Given the description of an element on the screen output the (x, y) to click on. 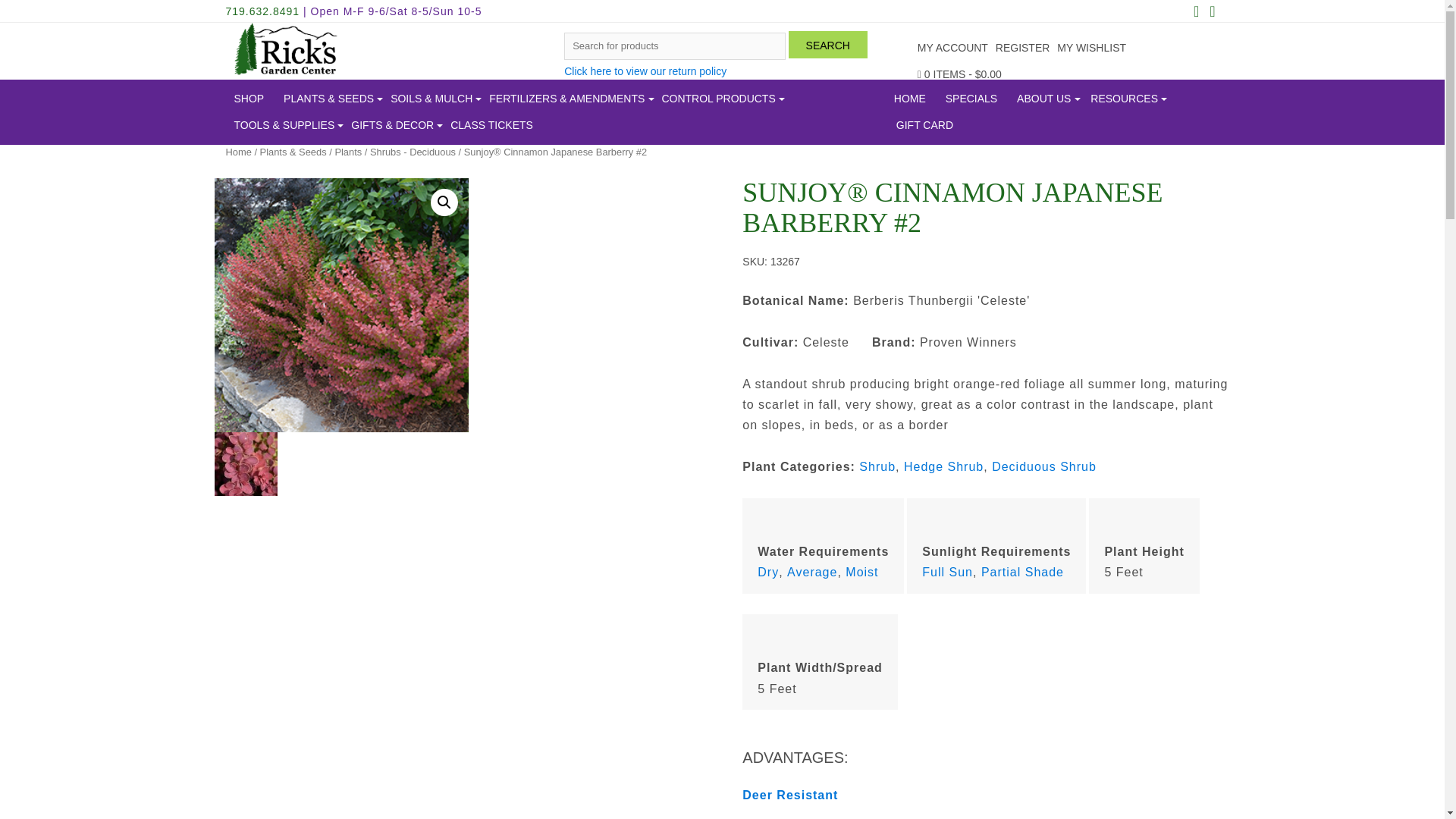
Search (828, 44)
Start shopping (959, 74)
REGISTER (1022, 48)
Facebook (1195, 12)
MY ACCOUNT (952, 48)
Instagram (1211, 12)
SHOP (248, 98)
Search (828, 44)
Search (828, 44)
Click here to view our return policy (645, 70)
product-15879-1695656469-13267 (340, 305)
MY WISHLIST (1091, 48)
719.632.8491 (262, 10)
